Given the description of an element on the screen output the (x, y) to click on. 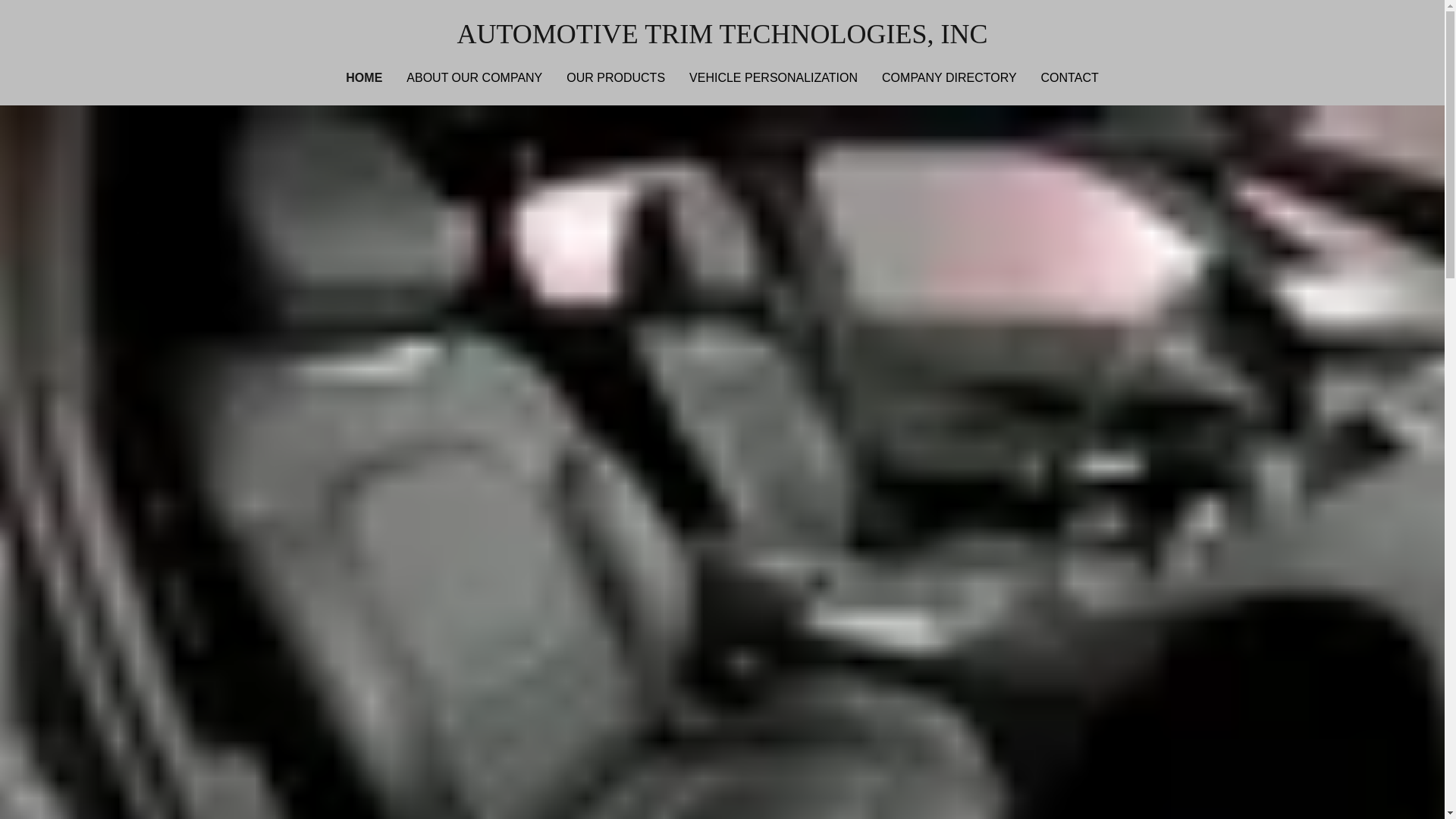
ABOUT OUR COMPANY (474, 77)
COMPANY DIRECTORY (949, 77)
HOME (363, 77)
AUTOMOTIVE TRIM TECHNOLOGIES, INC (722, 34)
VEHICLE PERSONALIZATION (772, 77)
CONTACT (1069, 77)
OUR PRODUCTS (615, 77)
AUTOMOTIVE TRIM TECHNOLOGIES, INC (722, 34)
